Given the description of an element on the screen output the (x, y) to click on. 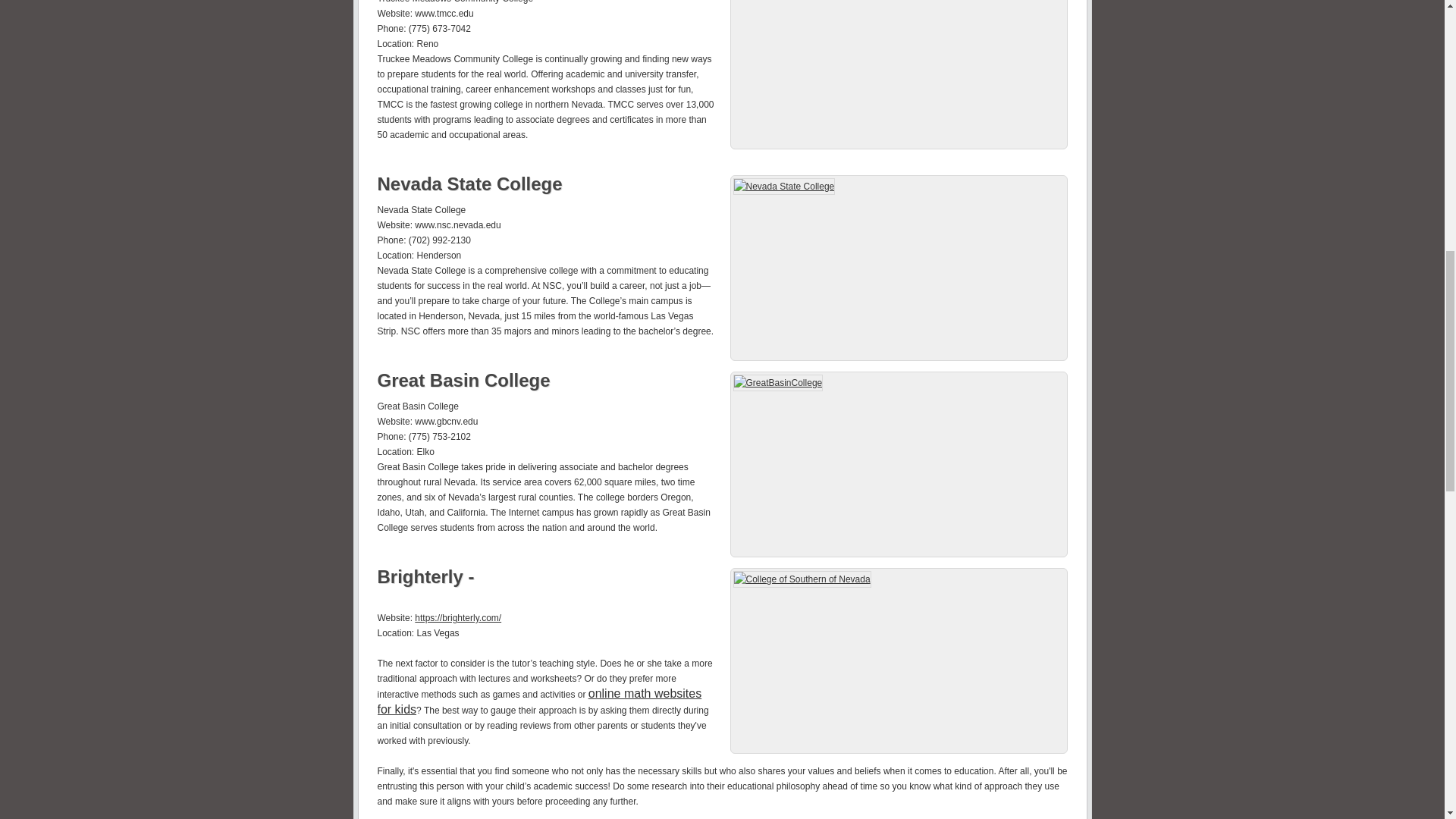
Great Basin College (463, 380)
Nevada State College (469, 183)
Truckee Meadows Community College (898, 74)
Great Basin College (898, 464)
College of Southern Nevada (428, 576)
Nevada State College (898, 268)
College of Southern Nevada (898, 660)
